Given the description of an element on the screen output the (x, y) to click on. 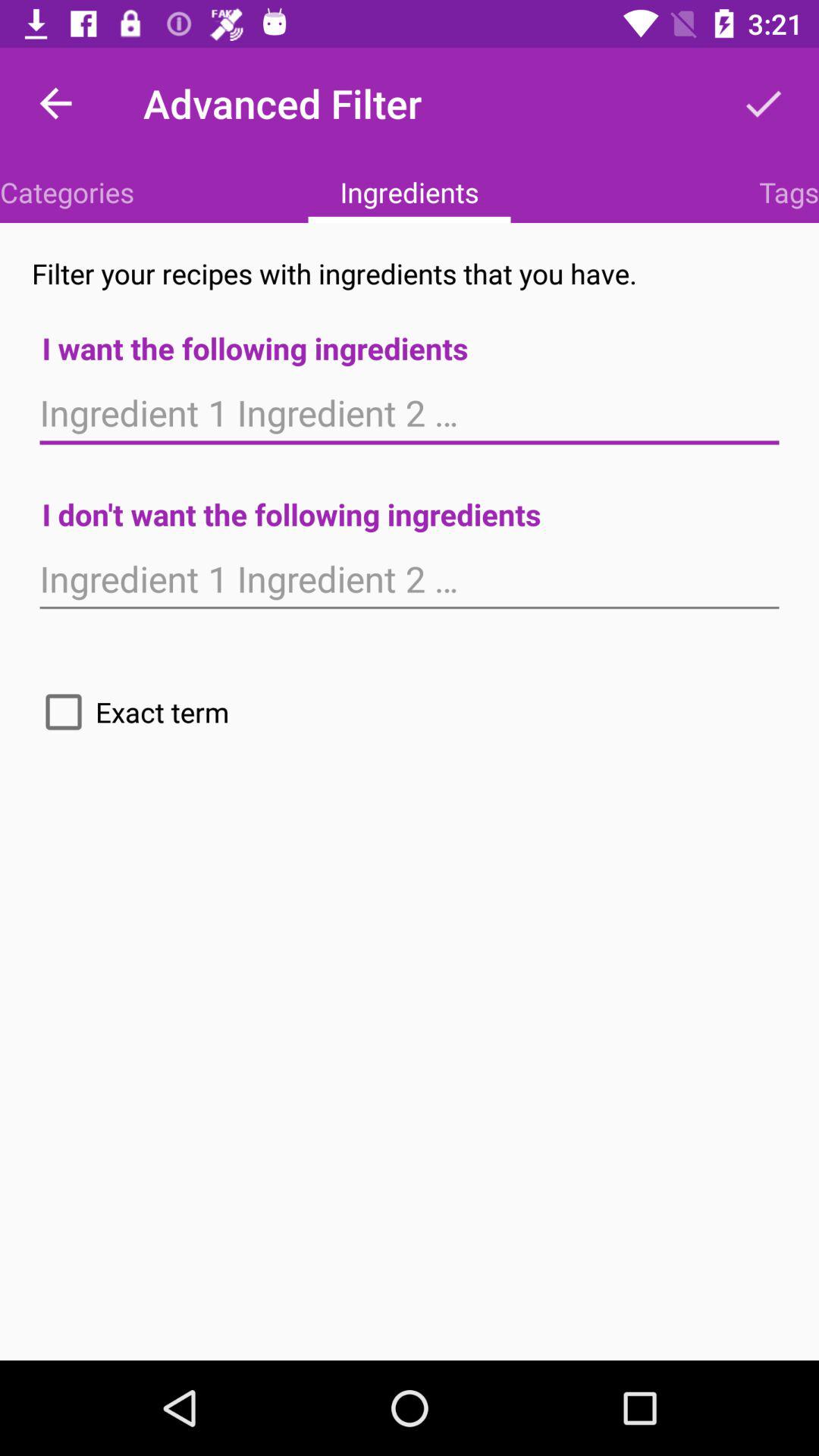
scroll until tags (789, 192)
